Given the description of an element on the screen output the (x, y) to click on. 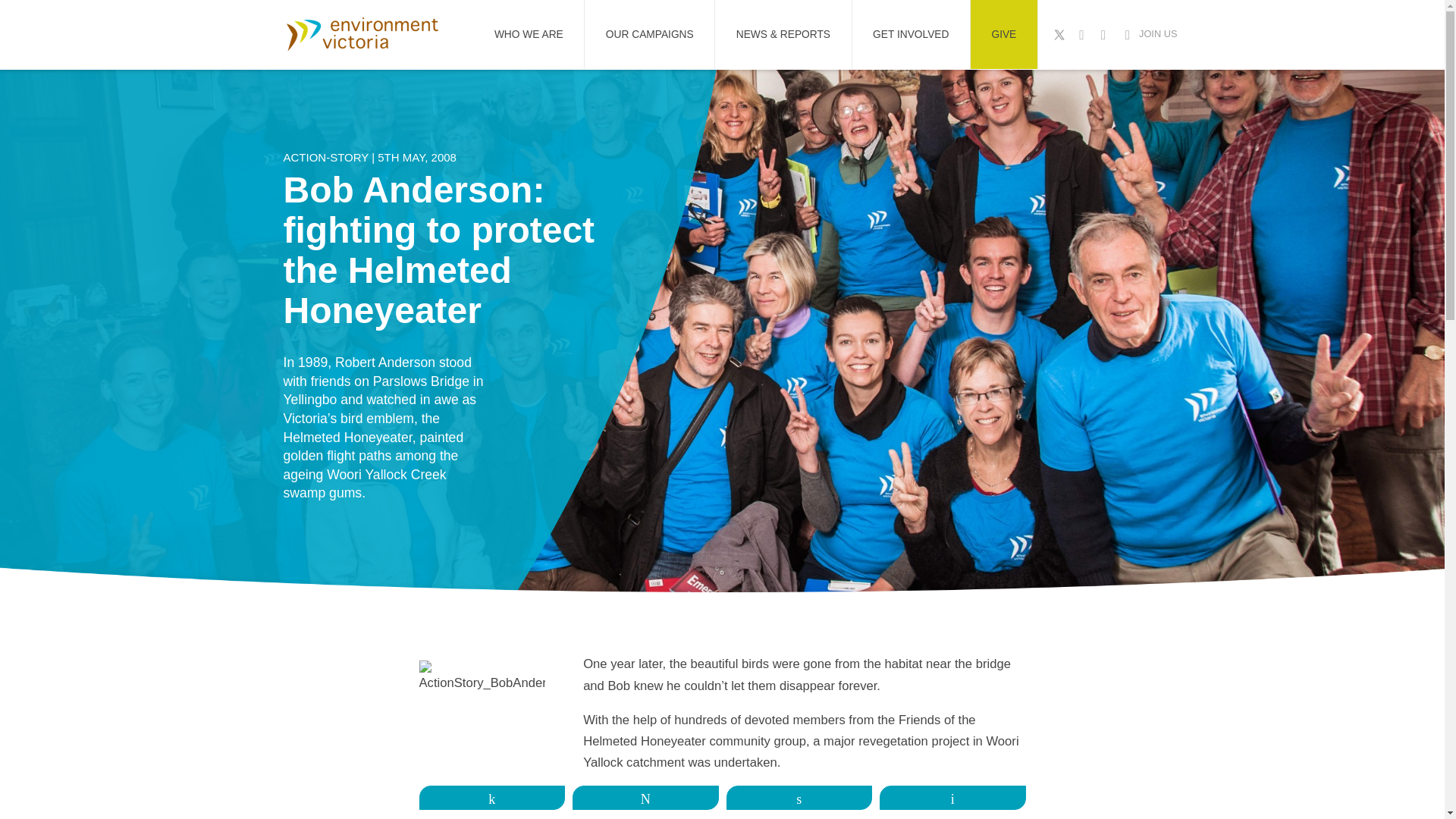
JOIN US (1147, 34)
WHO WE ARE (528, 34)
GET INVOLVED (910, 34)
OUR CAMPAIGNS (649, 34)
GIVE (1003, 34)
Environment Victoria (361, 33)
